Given the description of an element on the screen output the (x, y) to click on. 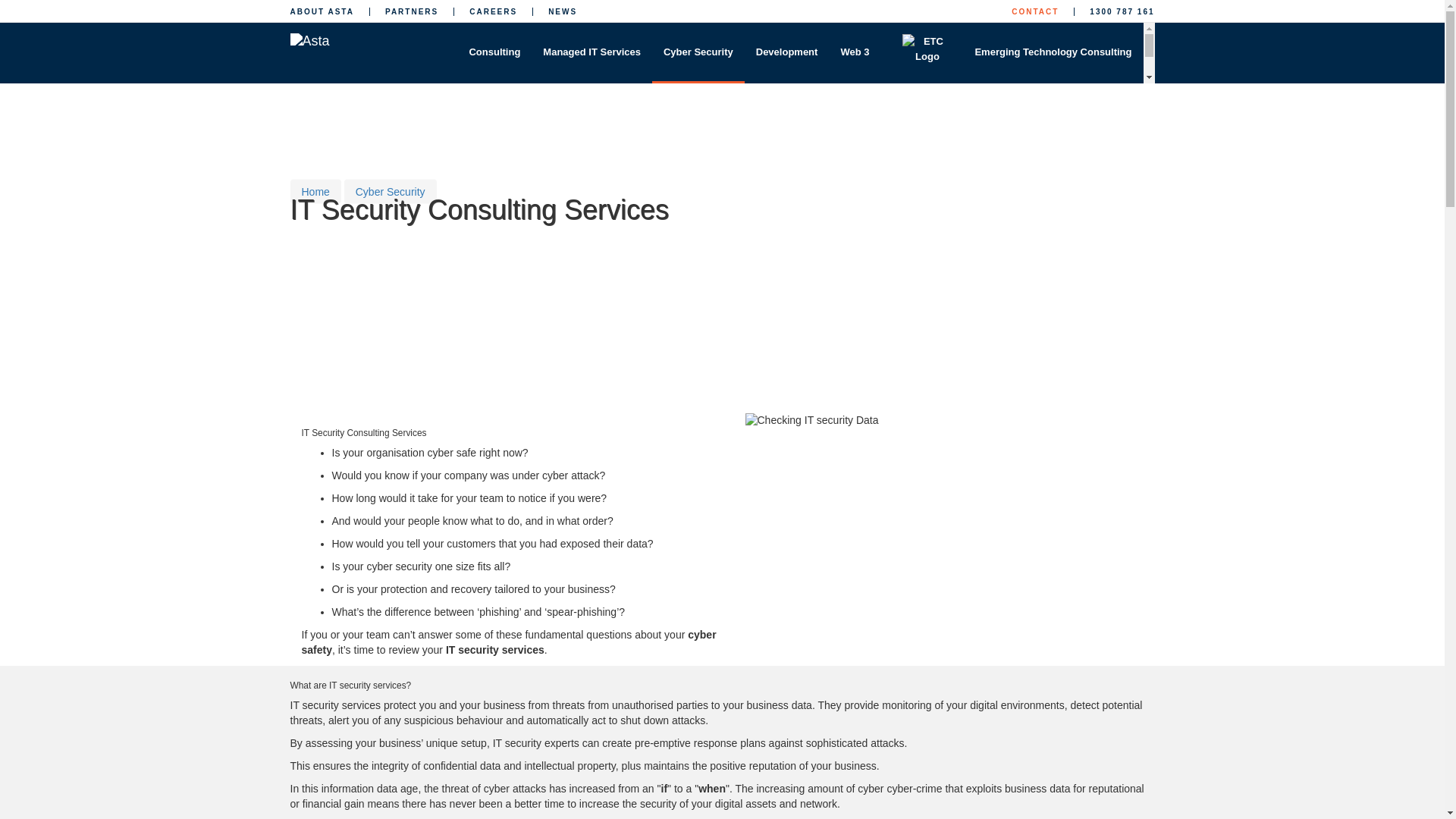
NEWS (562, 11)
CONTACT (1034, 11)
CAREERS (492, 11)
1300 787 161 (1121, 11)
ABOUT ASTA (321, 11)
PARTNERS (411, 11)
